Given the description of an element on the screen output the (x, y) to click on. 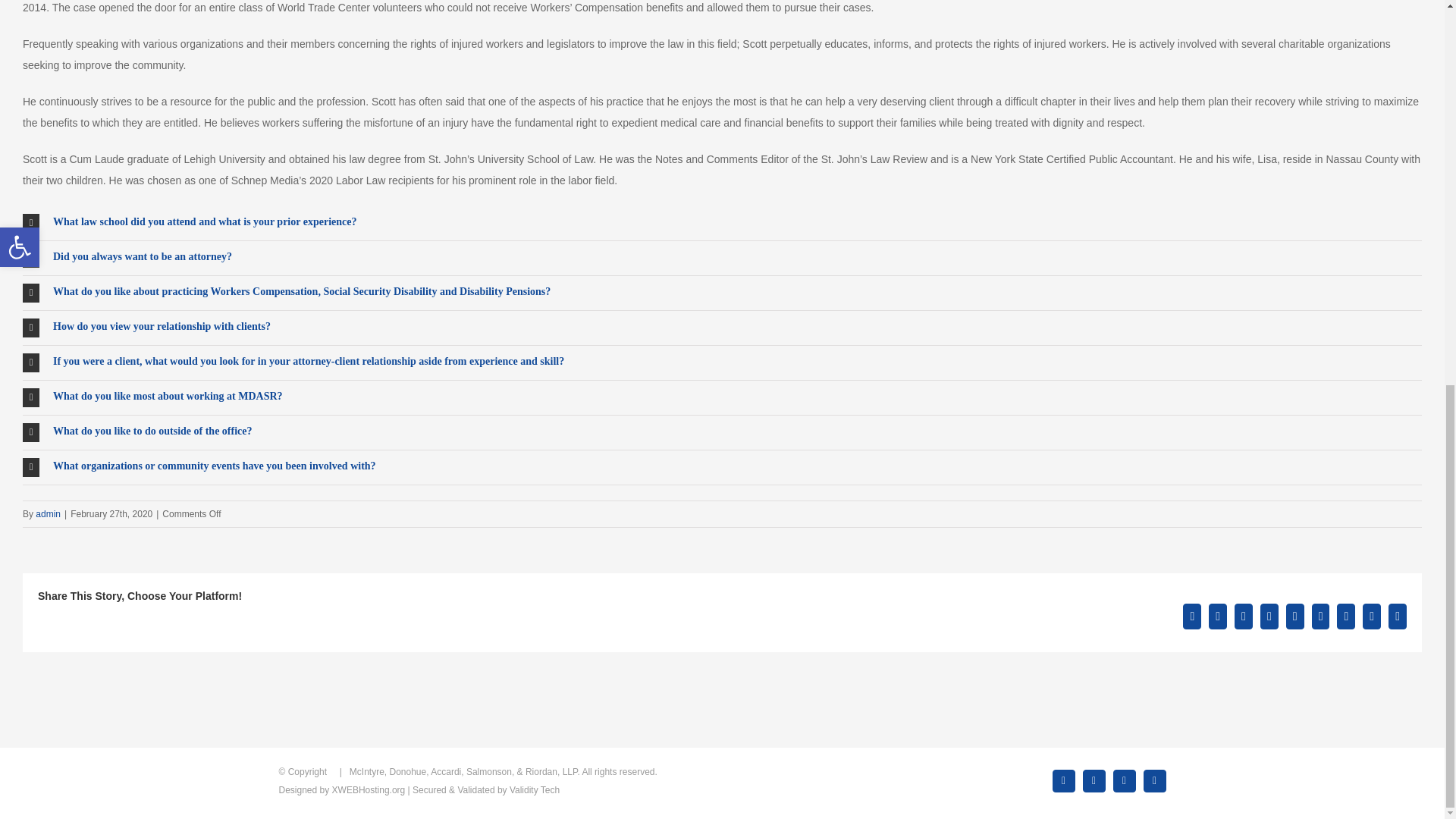
Posts by admin (47, 512)
How do you view your relationship with clients? (722, 327)
Page 1 (722, 169)
Did you always want to be an attorney? (722, 257)
What do you like most about working at MDASR? (722, 397)
